Given the description of an element on the screen output the (x, y) to click on. 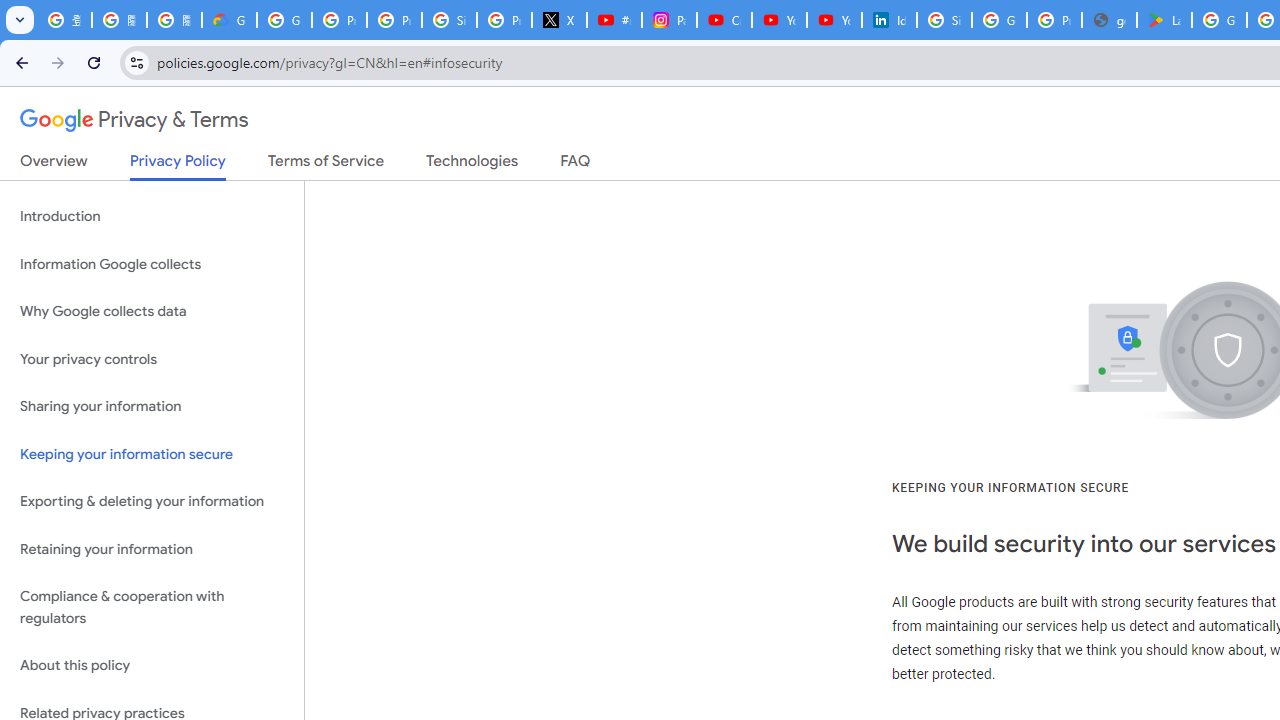
Privacy Help Center - Policies Help (394, 20)
Compliance & cooperation with regulators (152, 607)
Overview (54, 165)
View site information (136, 62)
Information Google collects (152, 263)
Why Google collects data (152, 312)
Sign in - Google Accounts (449, 20)
Google Cloud Privacy Notice (229, 20)
FAQ (575, 165)
Last Shelter: Survival - Apps on Google Play (1163, 20)
